Given the description of an element on the screen output the (x, y) to click on. 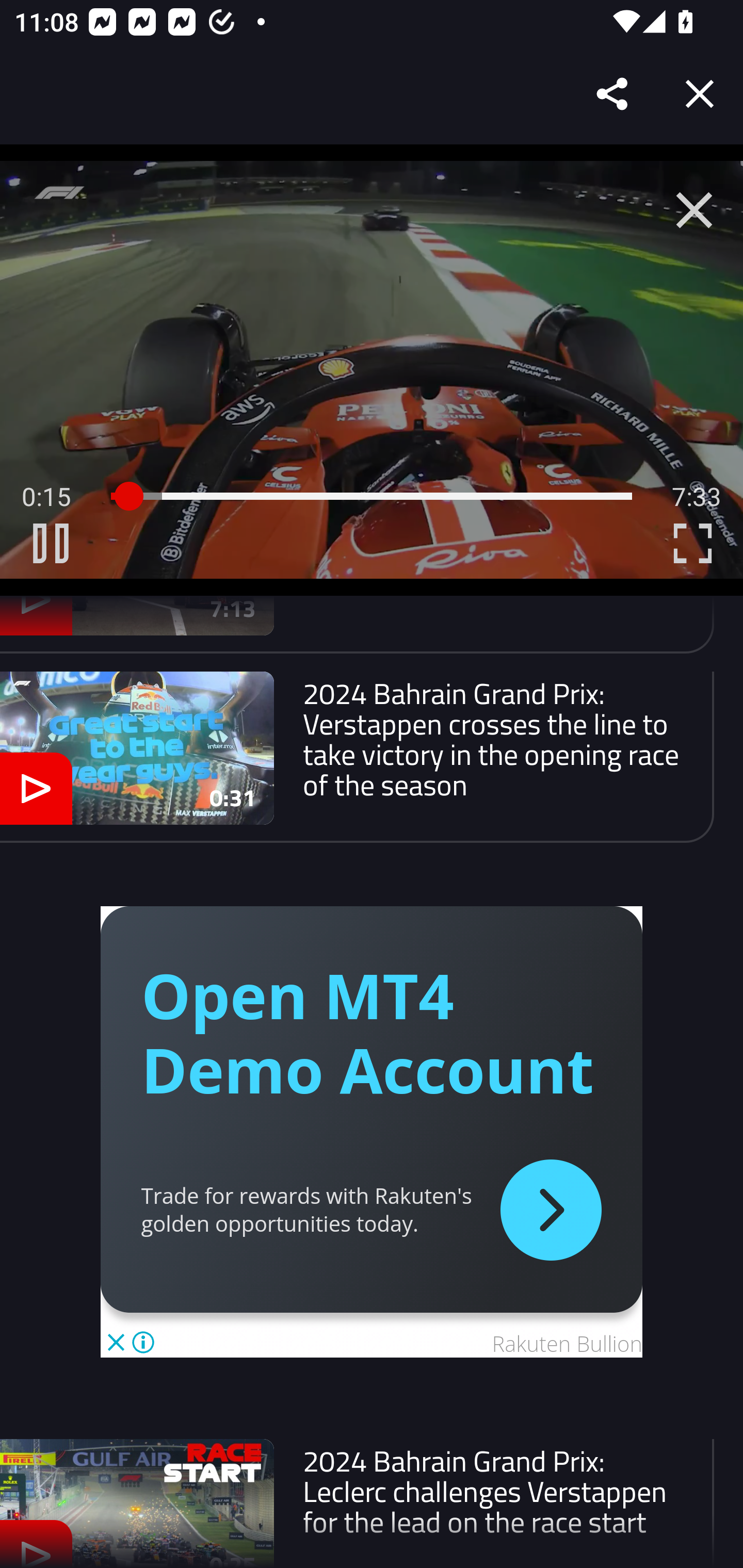
Share (612, 93)
Close (699, 93)
 Close (693, 210)
B Pause (50, 543)
C Enter Fullscreen (692, 543)
Open MT4 Demo Account Open MT4 Demo Account (367, 1032)
Rakuten Bullion (566, 1343)
